Given the description of an element on the screen output the (x, y) to click on. 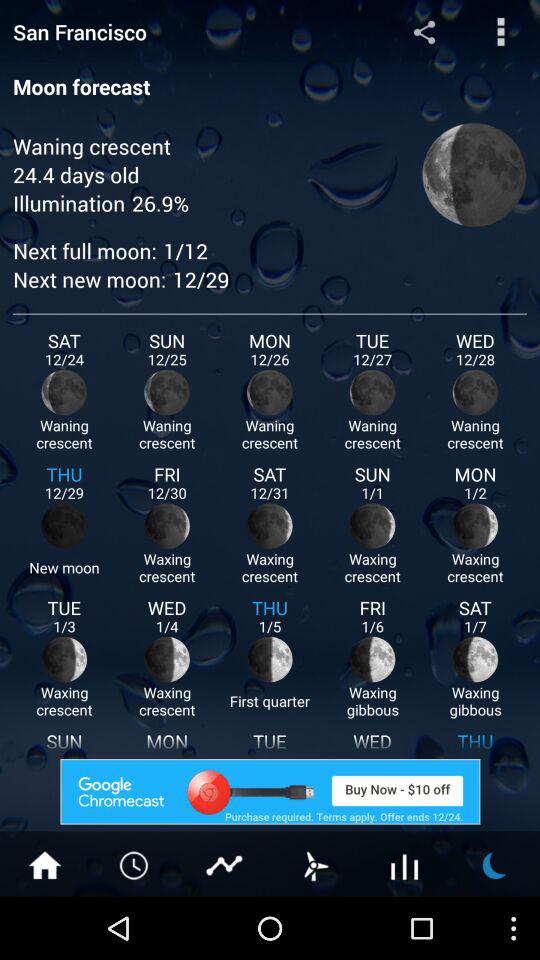
switch pages (315, 864)
